Given the description of an element on the screen output the (x, y) to click on. 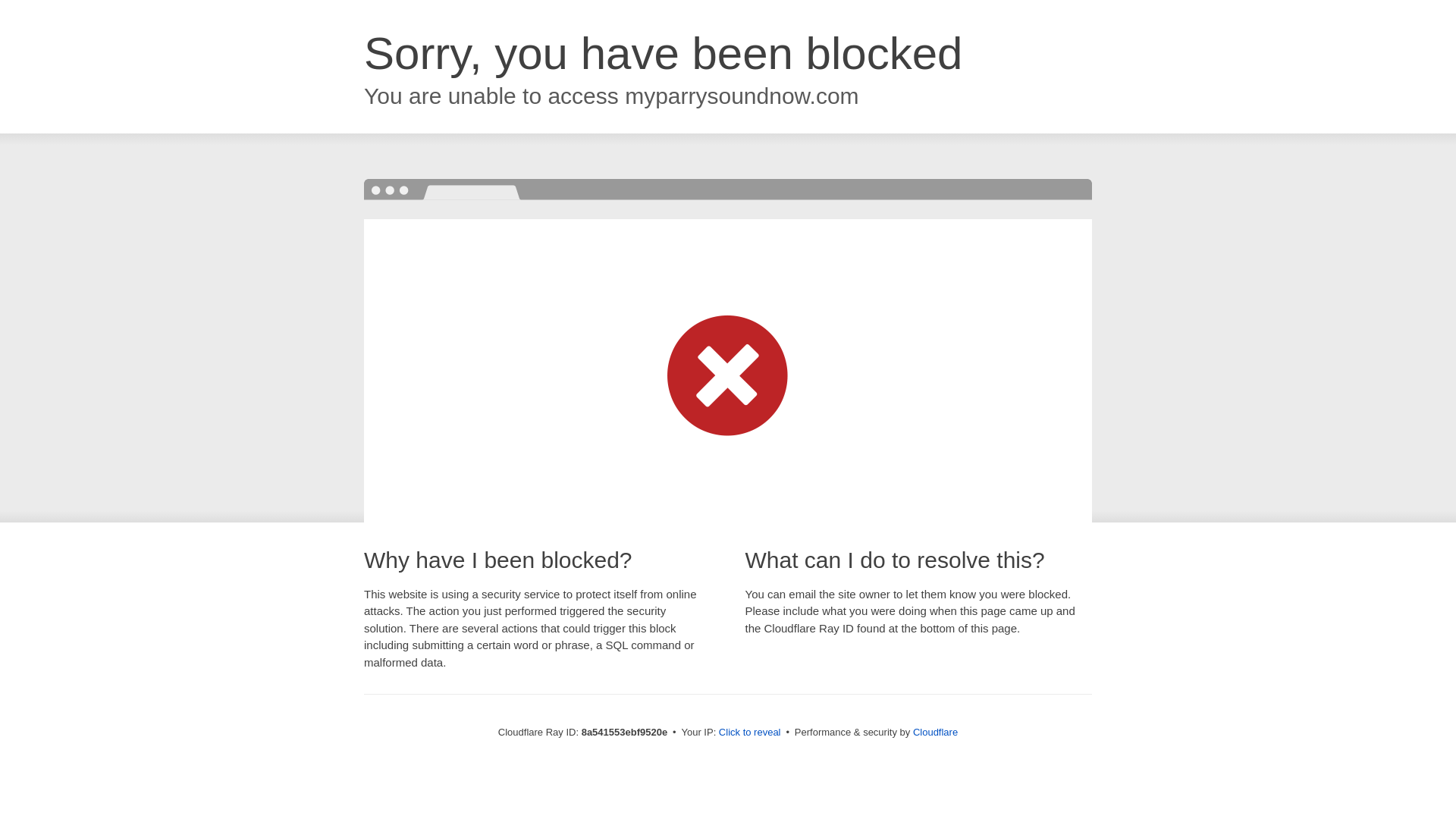
Click to reveal (749, 732)
Cloudflare (935, 731)
